Given the description of an element on the screen output the (x, y) to click on. 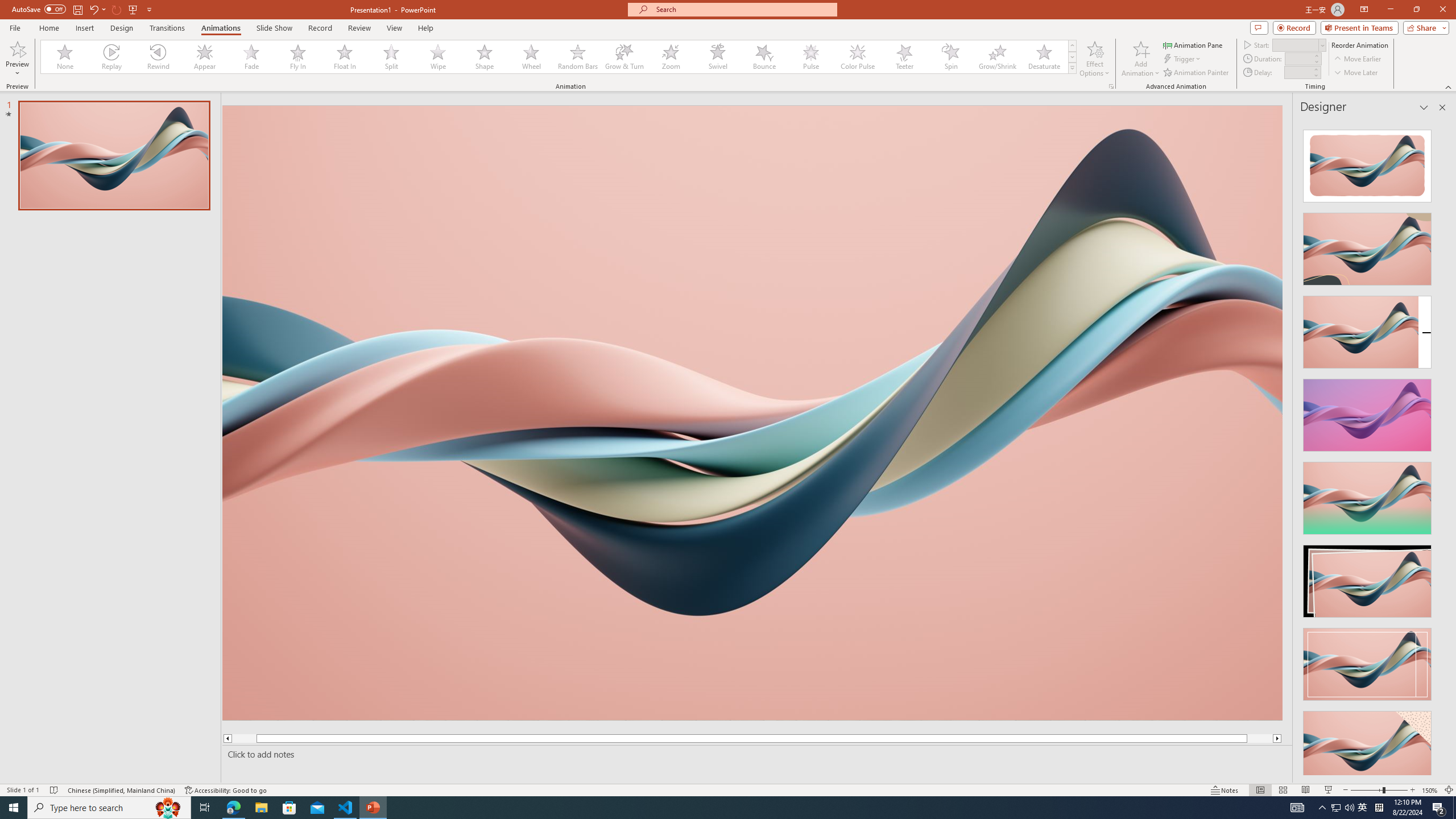
Fade (251, 56)
Add Animation (1141, 58)
Fly In (298, 56)
AutomationID: AnimationGallery (558, 56)
Bounce (764, 56)
